Given the description of an element on the screen output the (x, y) to click on. 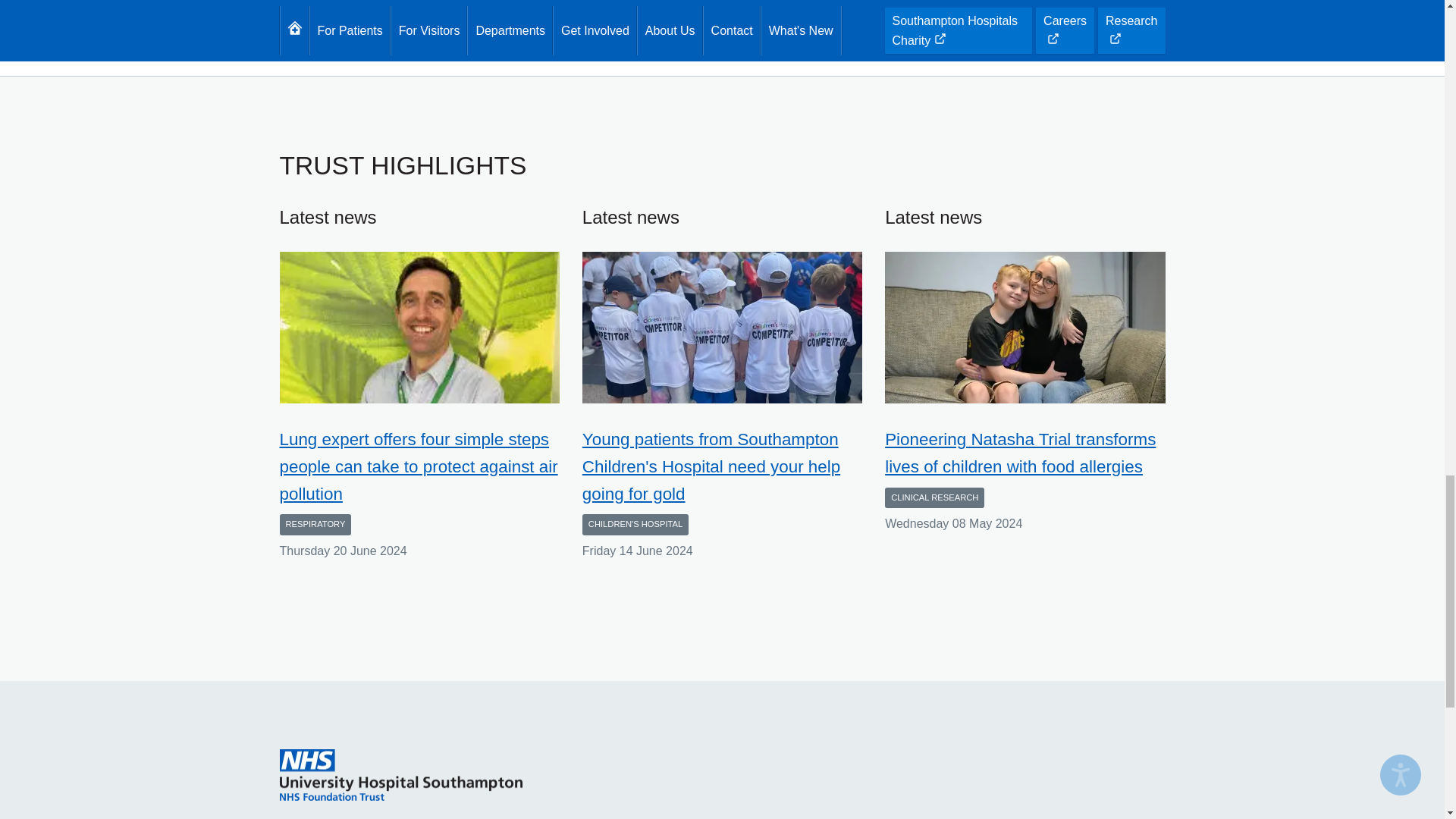
CHILDREN'S HOSPITAL (635, 524)
CLINICAL RESEARCH (934, 497)
RESPIRATORY (314, 524)
